Given the description of an element on the screen output the (x, y) to click on. 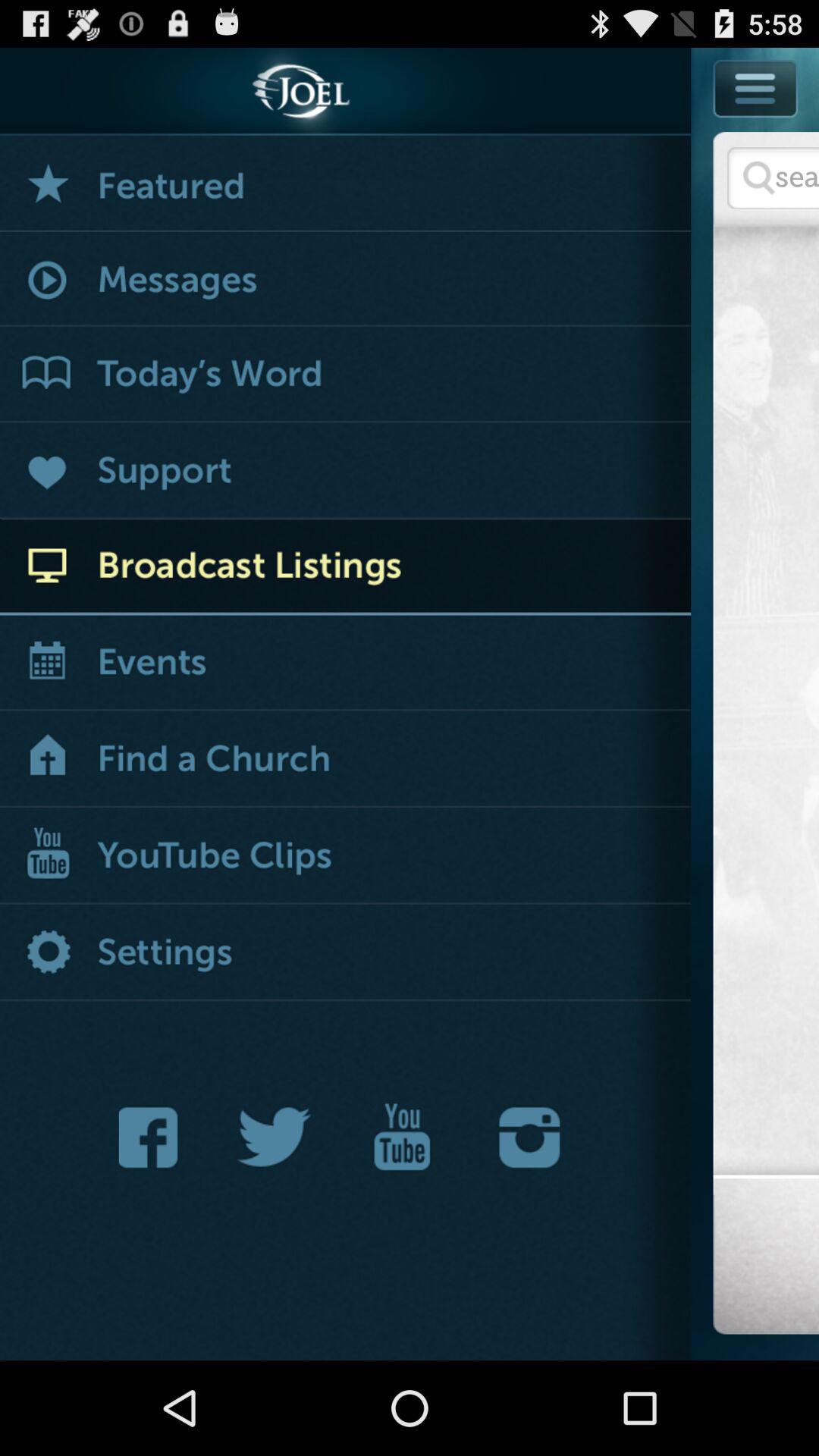
tap item at the bottom left corner (152, 1137)
